Given the description of an element on the screen output the (x, y) to click on. 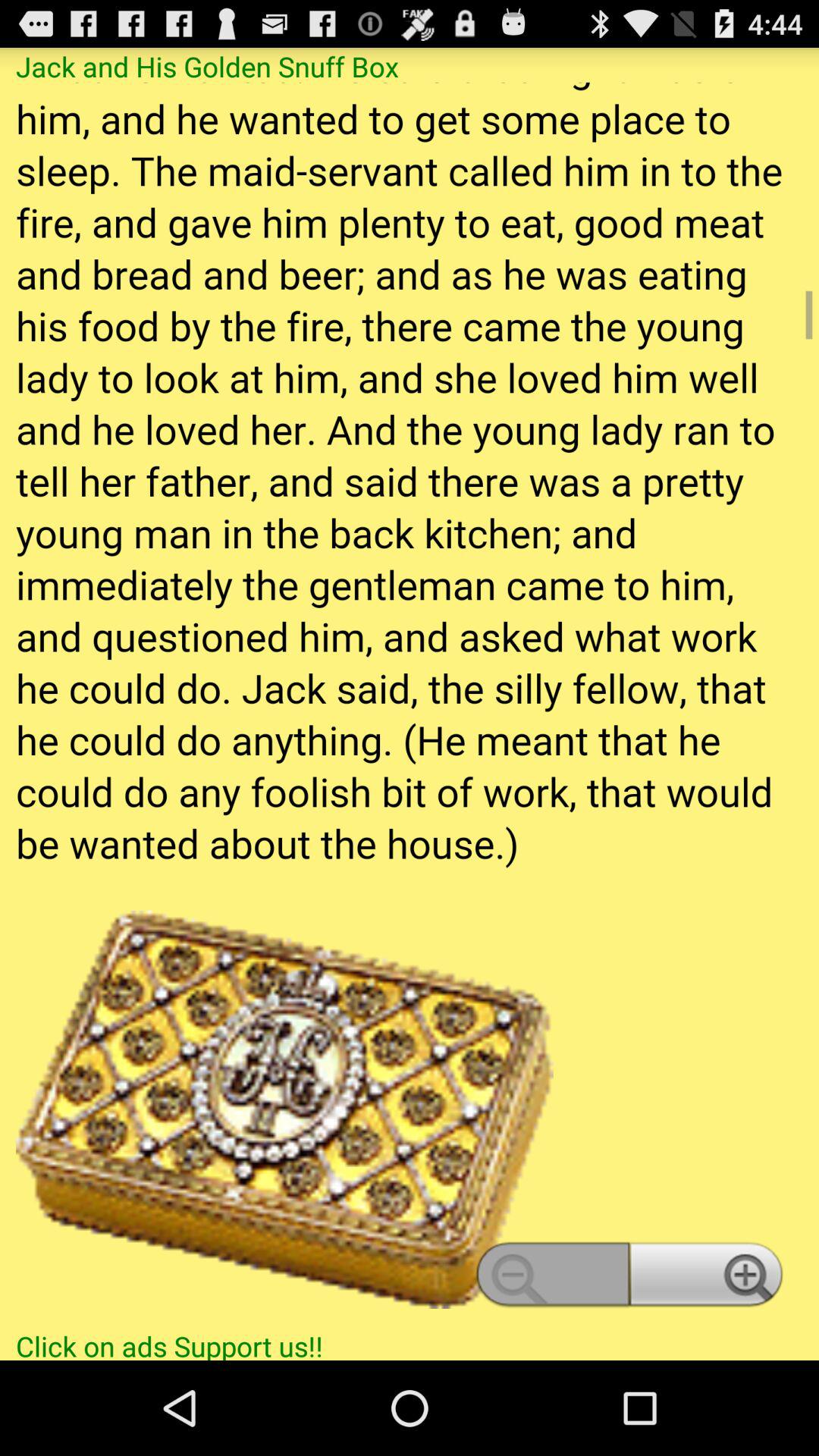
pinch and zoom (409, 704)
